Given the description of an element on the screen output the (x, y) to click on. 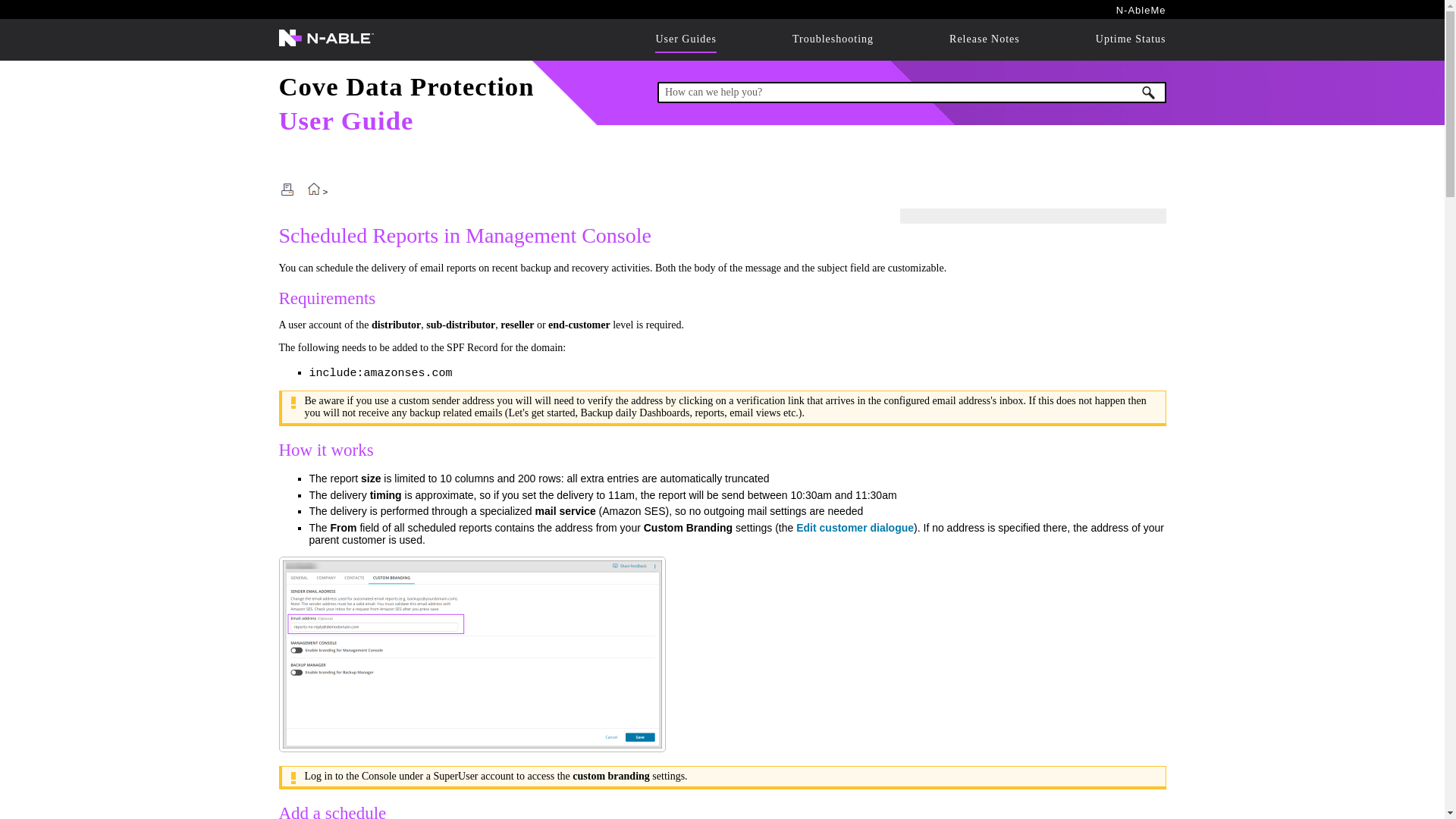
Edit customer dialogue (855, 527)
Display User Guide (685, 39)
Display Troubleshooting Information (832, 39)
Release Notes (984, 39)
Display uptime status (1131, 39)
Uptime Status (1131, 39)
Visit the N-able home page (326, 45)
Home (346, 120)
Troubleshooting (832, 39)
User Guides (685, 39)
